Given the description of an element on the screen output the (x, y) to click on. 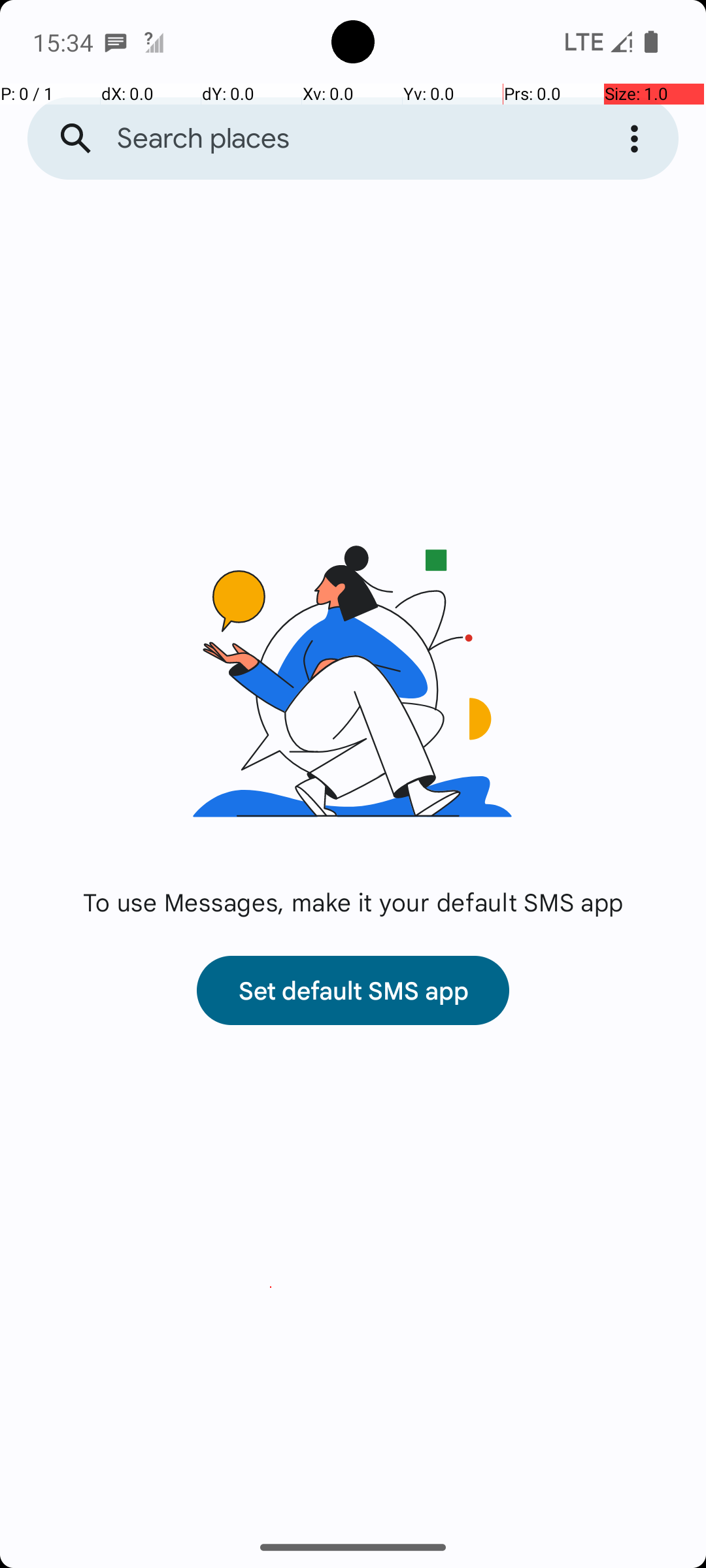
To use Messages, make it your default SMS app Element type: android.widget.TextView (353, 901)
Set default SMS app Element type: android.widget.Button (352, 990)
